Given the description of an element on the screen output the (x, y) to click on. 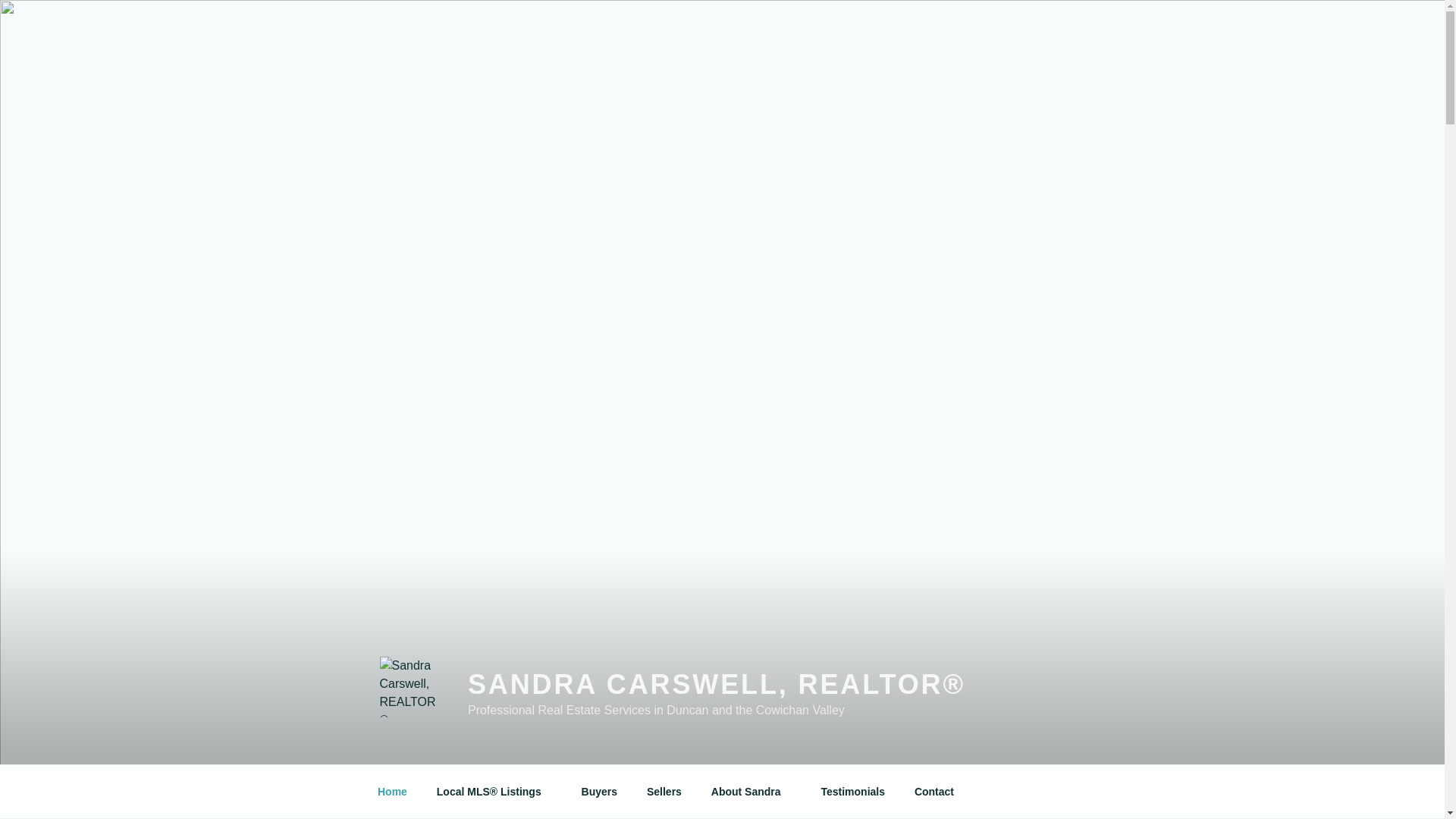
Buyers (598, 791)
Sellers (663, 791)
Scroll down to content (1082, 791)
Scroll down to content (1082, 791)
Home (392, 791)
About Sandra (751, 791)
Contact (933, 791)
Testimonials (853, 791)
